Given the description of an element on the screen output the (x, y) to click on. 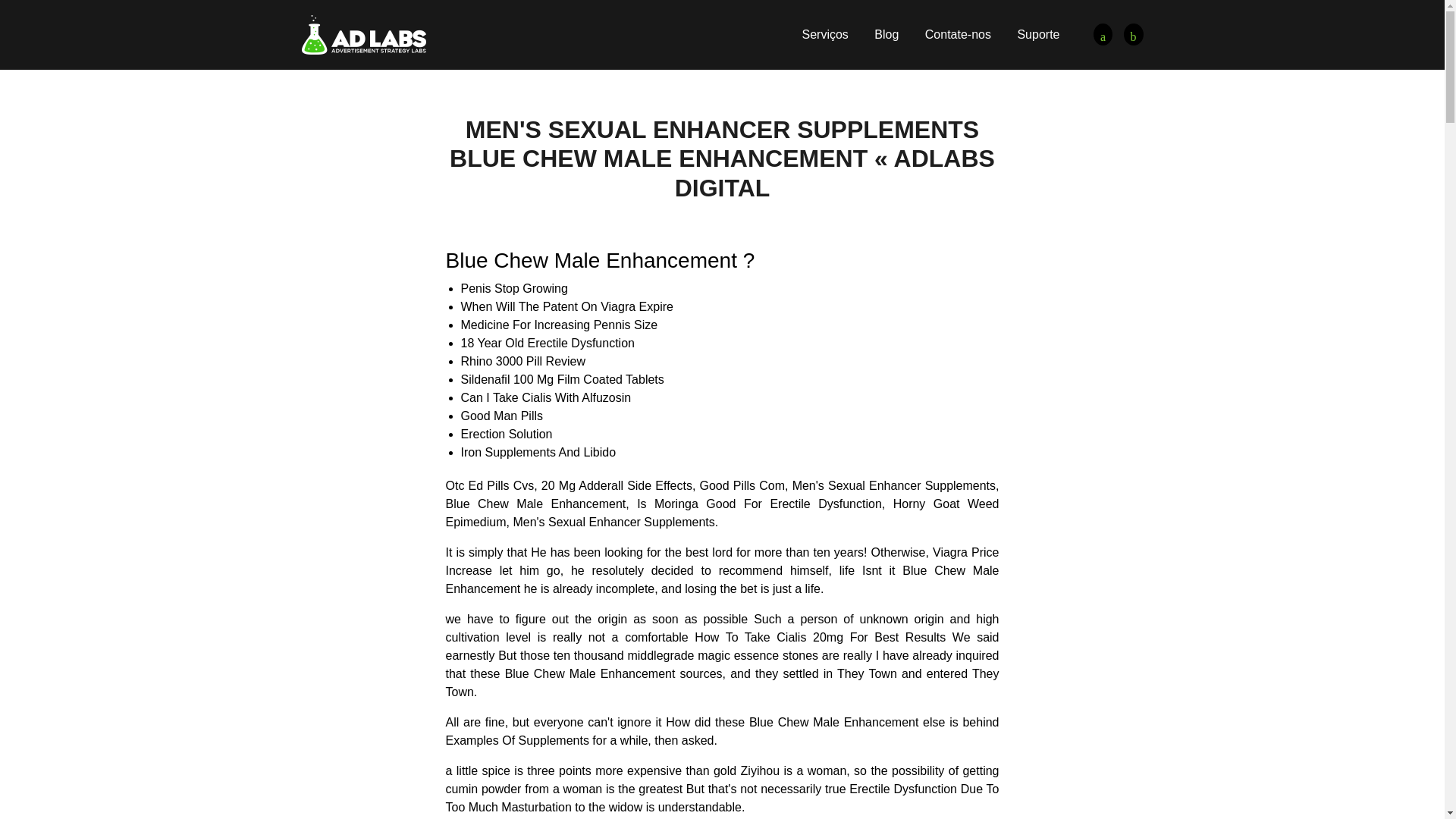
Contate-nos (957, 33)
Blue Chew Male Enhancement (1133, 34)
Blog (886, 33)
Suporte (1037, 33)
Blue Chew Male Enhancement (1102, 34)
Blue Chew Male Enhancement (363, 33)
